Given the description of an element on the screen output the (x, y) to click on. 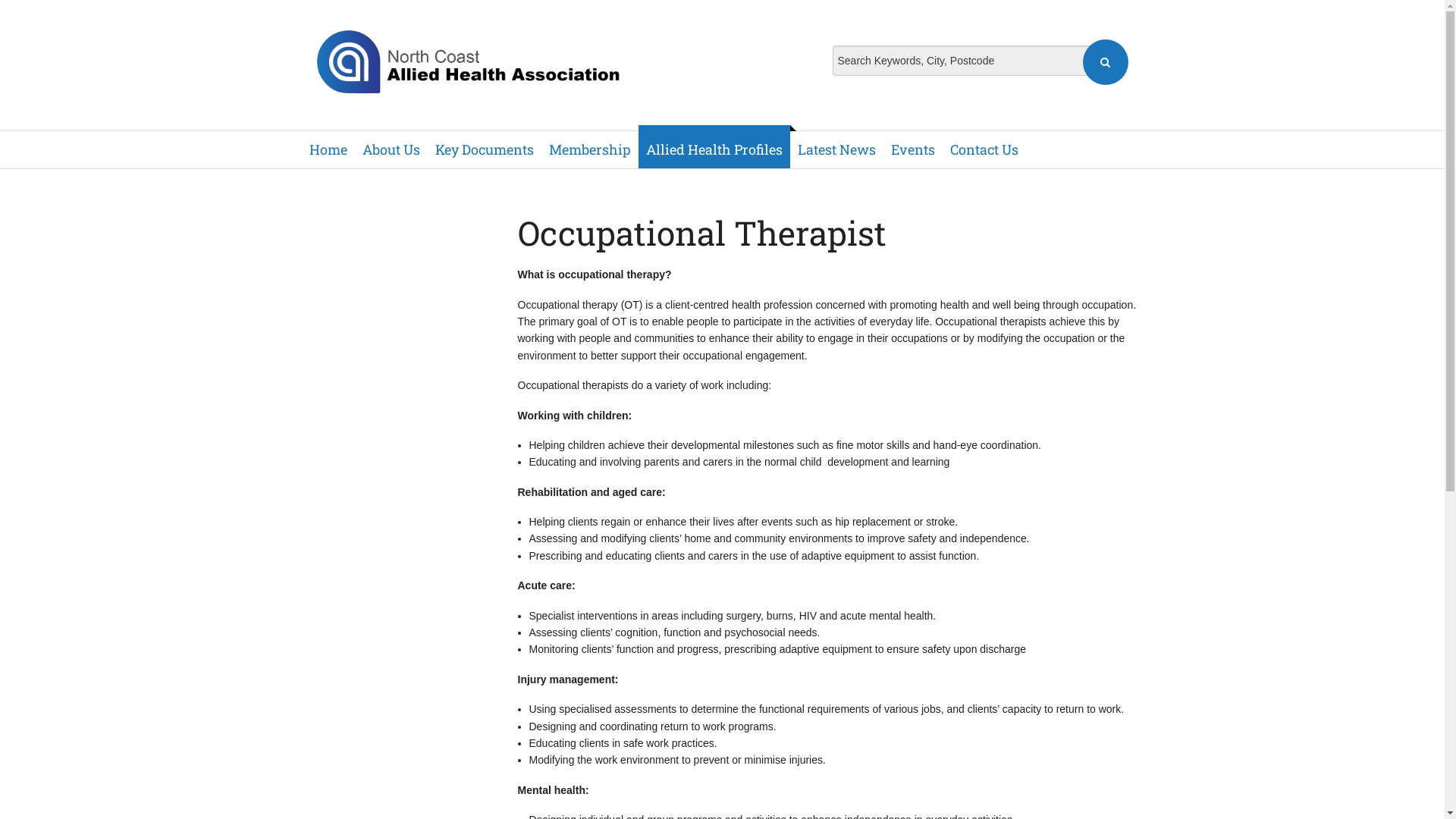
Home Element type: text (327, 149)
North Coast Allied Health Association Element type: hover (468, 61)
Latest News Element type: text (836, 149)
Key Documents Element type: text (484, 149)
Allied Health Profiles Element type: text (714, 146)
Contact Us Element type: text (983, 149)
Membership Element type: text (589, 149)
Search Keywords, City, Postcode Element type: hover (980, 60)
Events Element type: text (911, 149)
About Us Element type: text (390, 149)
